Given the description of an element on the screen output the (x, y) to click on. 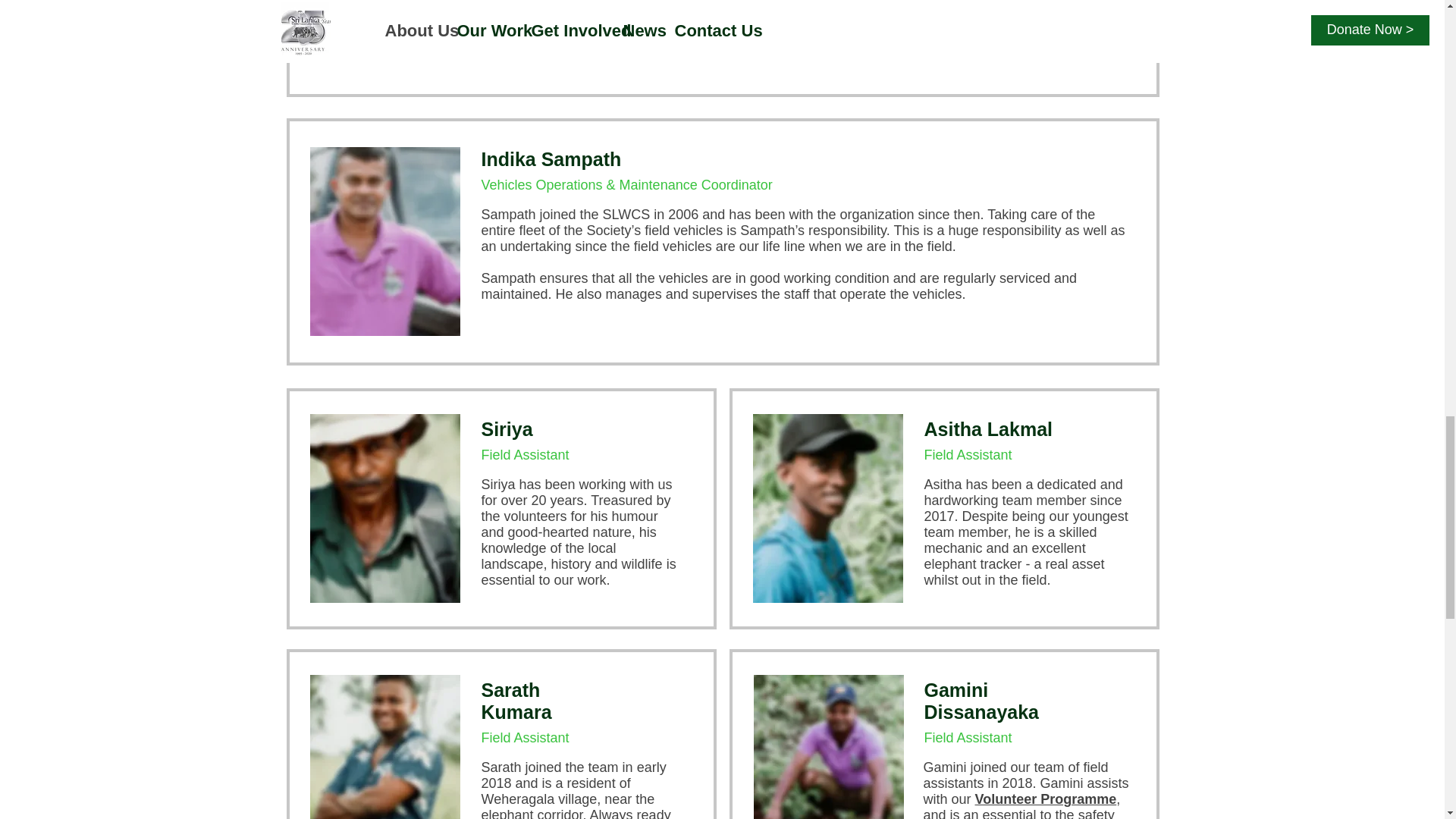
volunteer (1055, 4)
research (780, 4)
Volunteer Programme (1045, 798)
